Given the description of an element on the screen output the (x, y) to click on. 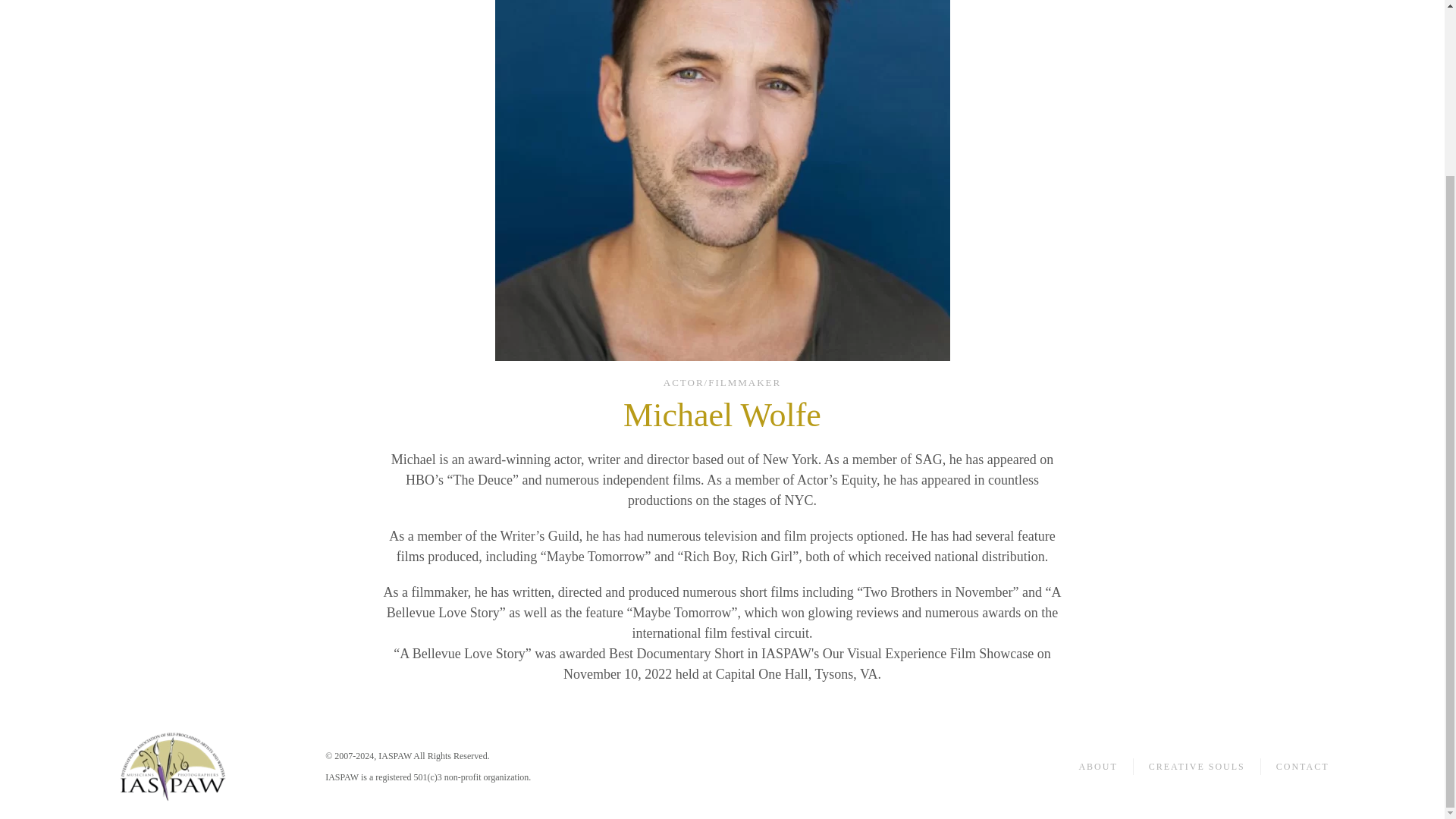
CREATIVE SOULS (1196, 766)
CONTACT (1302, 766)
ABOUT (1097, 766)
